Given the description of an element on the screen output the (x, y) to click on. 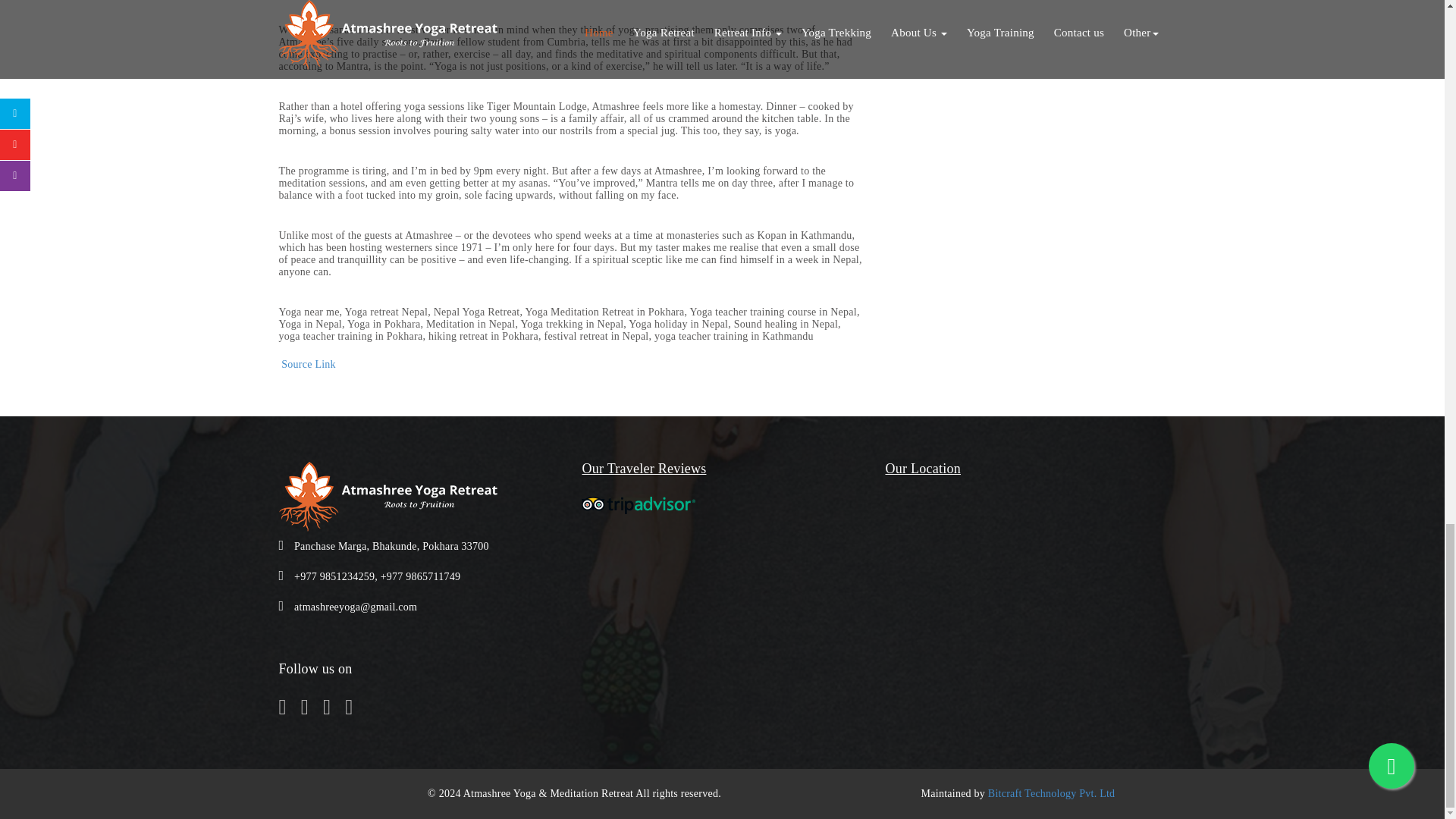
Source Link (308, 364)
